Given the description of an element on the screen output the (x, y) to click on. 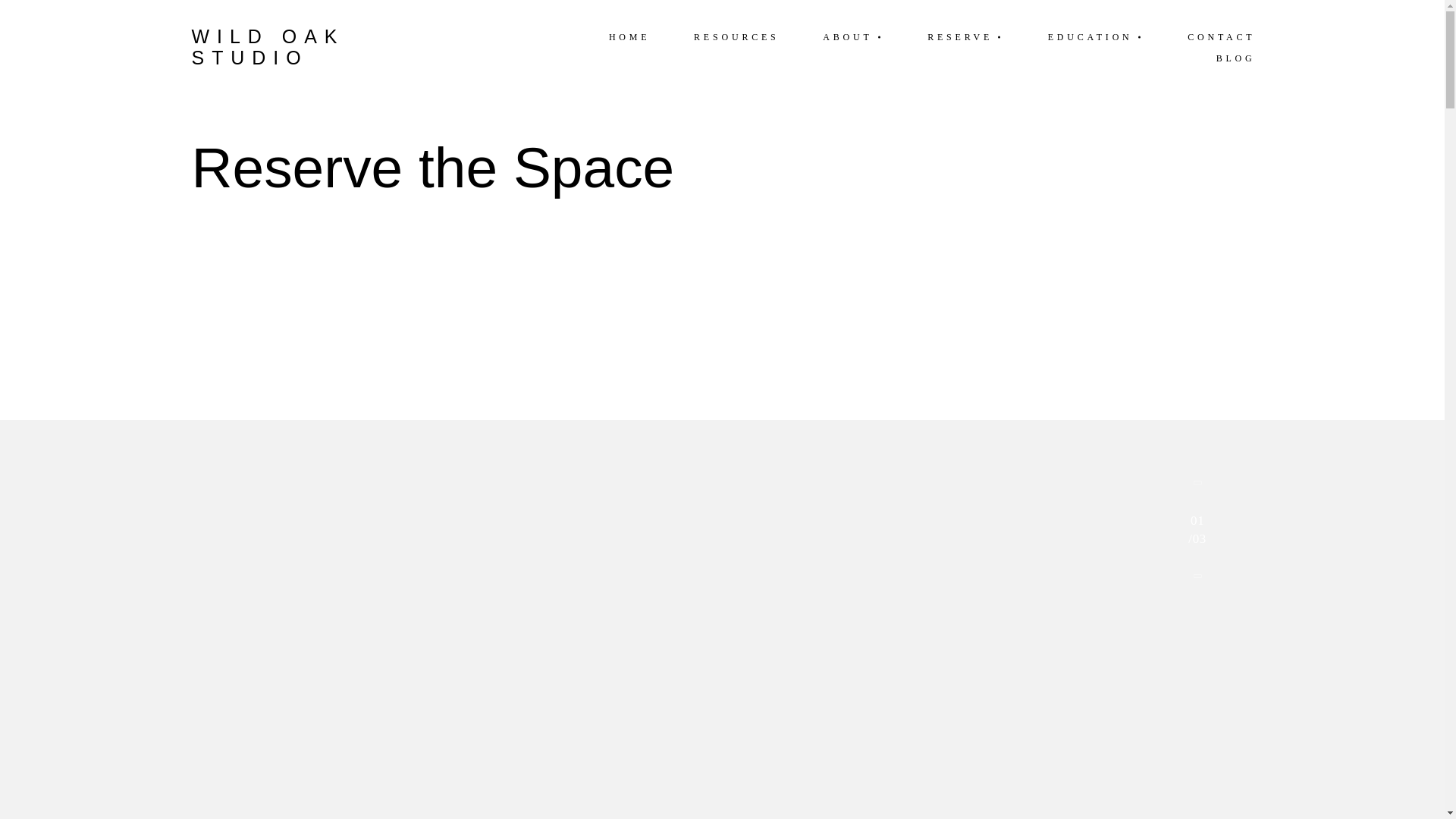
RESERVE (965, 37)
RESOURCES (735, 37)
EDUCATION (1096, 37)
CONTACT (1221, 37)
BLOG (1234, 58)
HOME (628, 37)
WILD OAK STUDIO (330, 47)
ABOUT (852, 37)
